Given the description of an element on the screen output the (x, y) to click on. 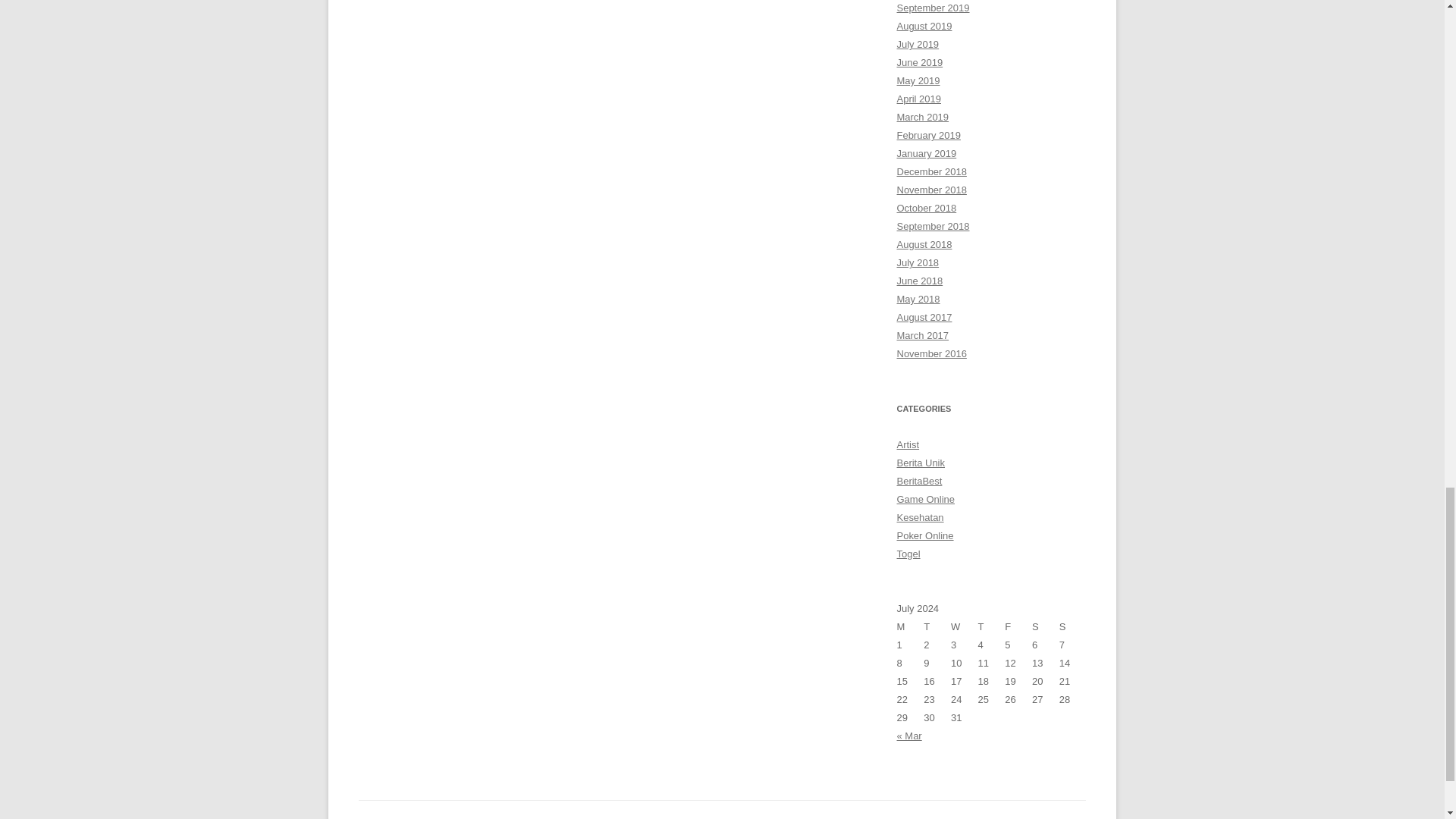
Wednesday (964, 627)
Tuesday (936, 627)
Friday (1018, 627)
Saturday (1045, 627)
Thursday (992, 627)
Monday (909, 627)
Sunday (1072, 627)
BeritaBest (919, 480)
